Given the description of an element on the screen output the (x, y) to click on. 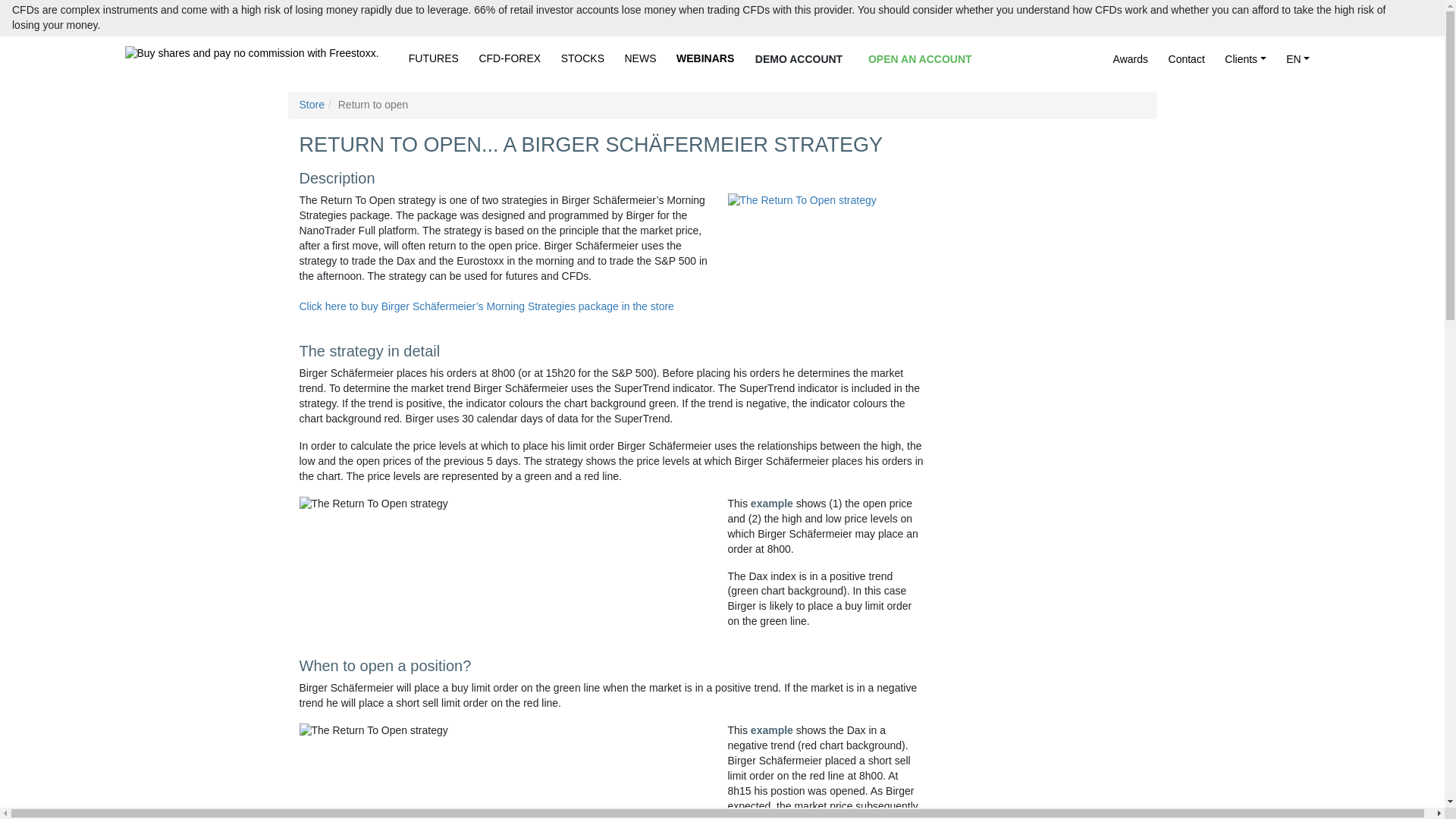
DEMO ACCOUNT (798, 59)
WEBINARS (704, 58)
Contact (1186, 59)
Awards (1130, 59)
EN (1297, 59)
Clients (1244, 59)
CFD-FOREX (509, 58)
NEWS (640, 58)
OPEN AN ACCOUNT (919, 59)
Store (310, 104)
STOCKS (582, 58)
FUTURES (433, 58)
